Given the description of an element on the screen output the (x, y) to click on. 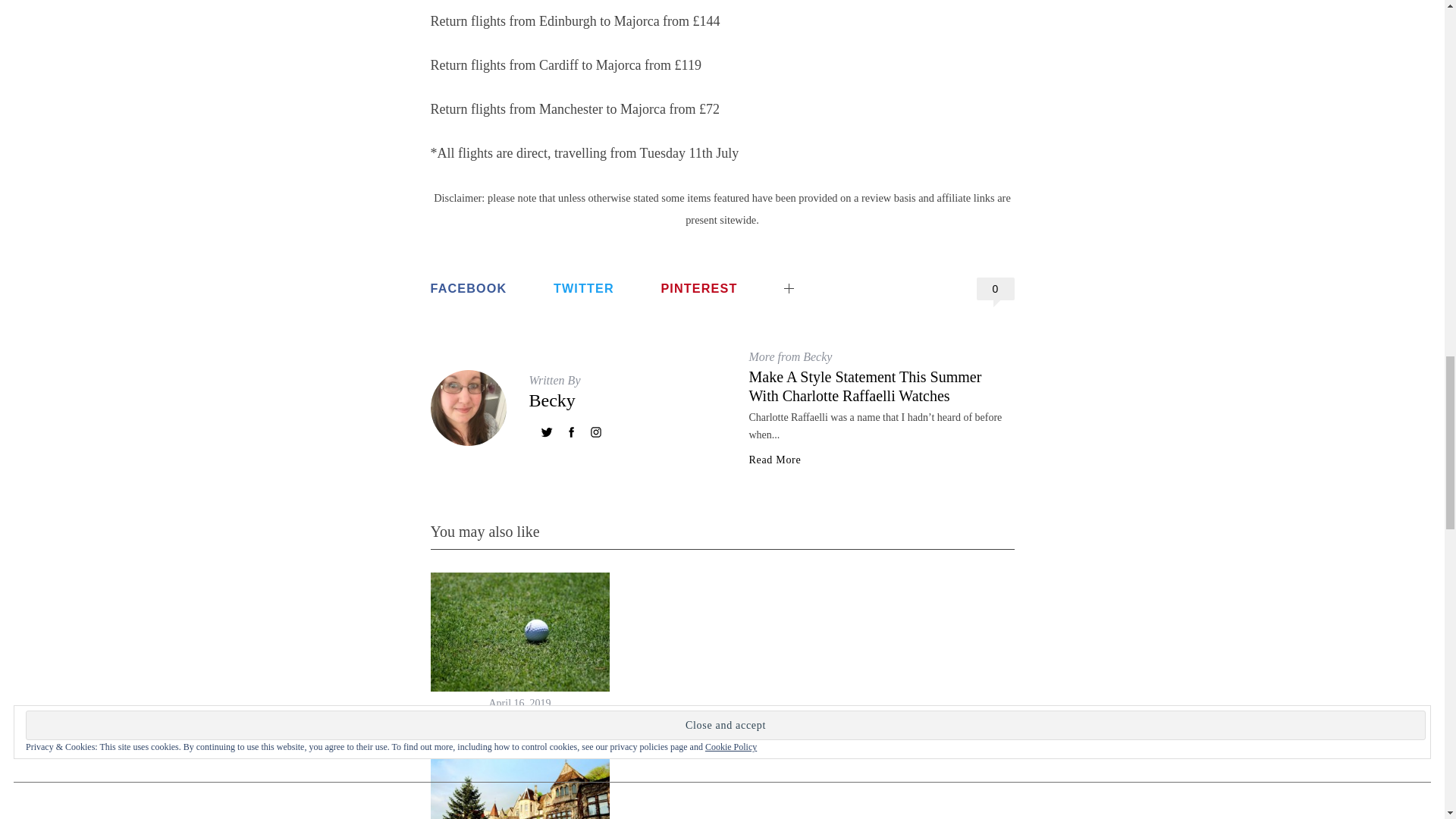
0 (995, 288)
The Best Locations To Test Out Your New Golfing Gear (518, 731)
Becky (552, 400)
LINKEDIN (834, 276)
TWITTER (583, 288)
PINTEREST (698, 288)
Read More (775, 460)
FACEBOOK (468, 288)
